Given the description of an element on the screen output the (x, y) to click on. 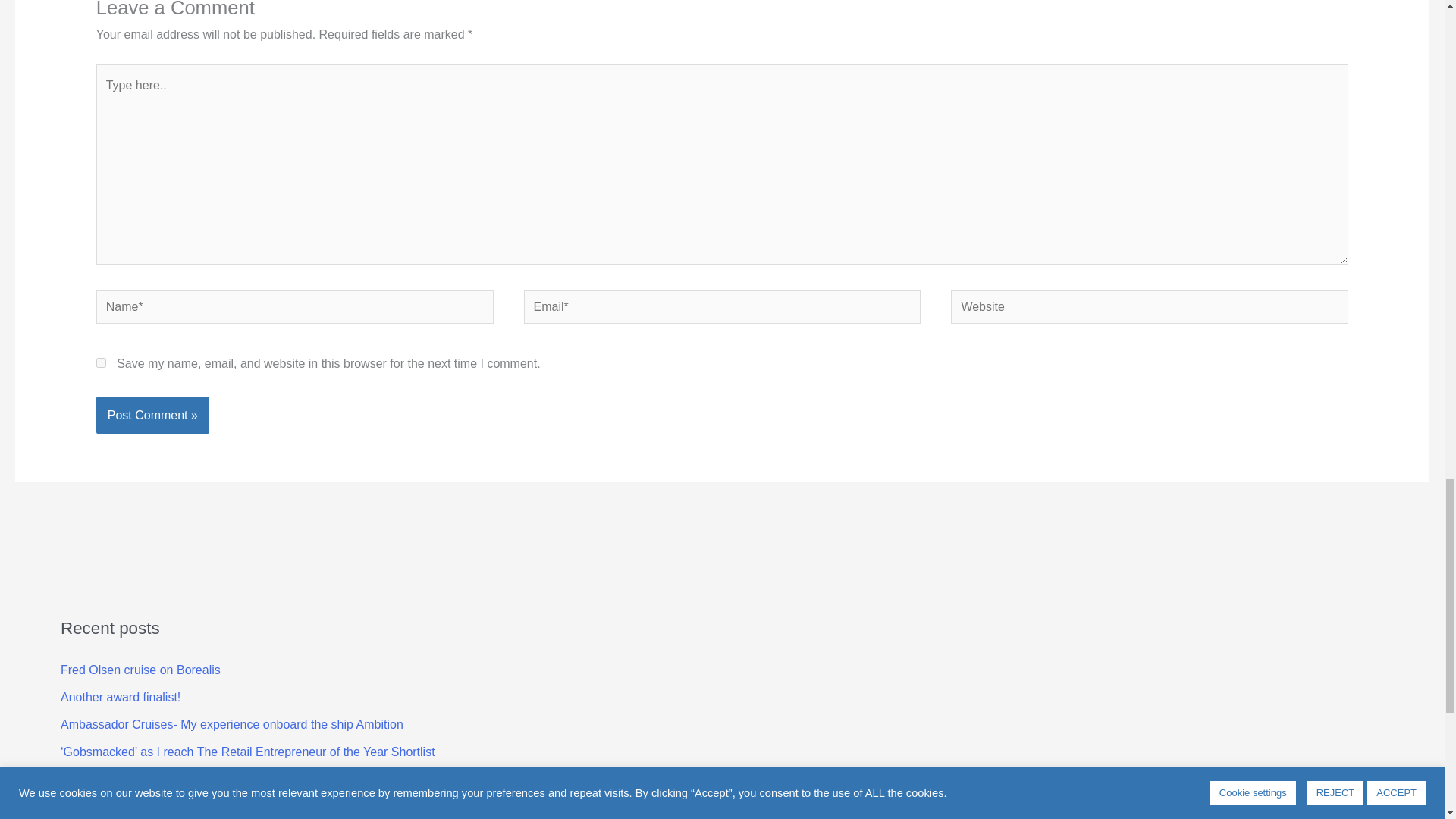
Ambassador Cruises- My experience onboard the ship Ambition (232, 724)
Fred Olsen cruise on Borealis (141, 669)
Another award finalist! (120, 697)
A river cruise vs a city break (136, 779)
yes (101, 362)
